Given the description of an element on the screen output the (x, y) to click on. 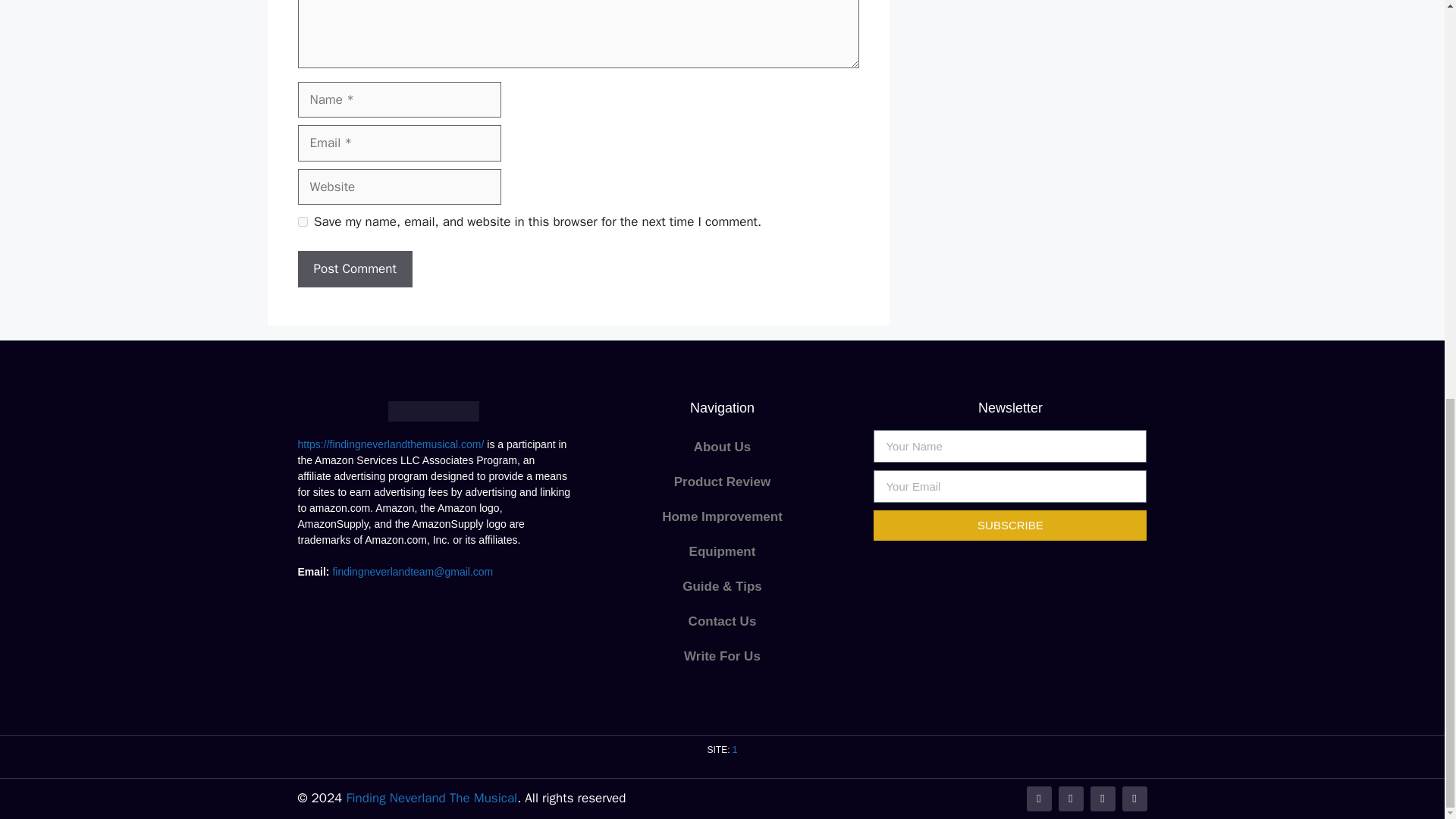
Post Comment (354, 268)
Scroll back to top (1406, 763)
yes (302, 221)
